Given the description of an element on the screen output the (x, y) to click on. 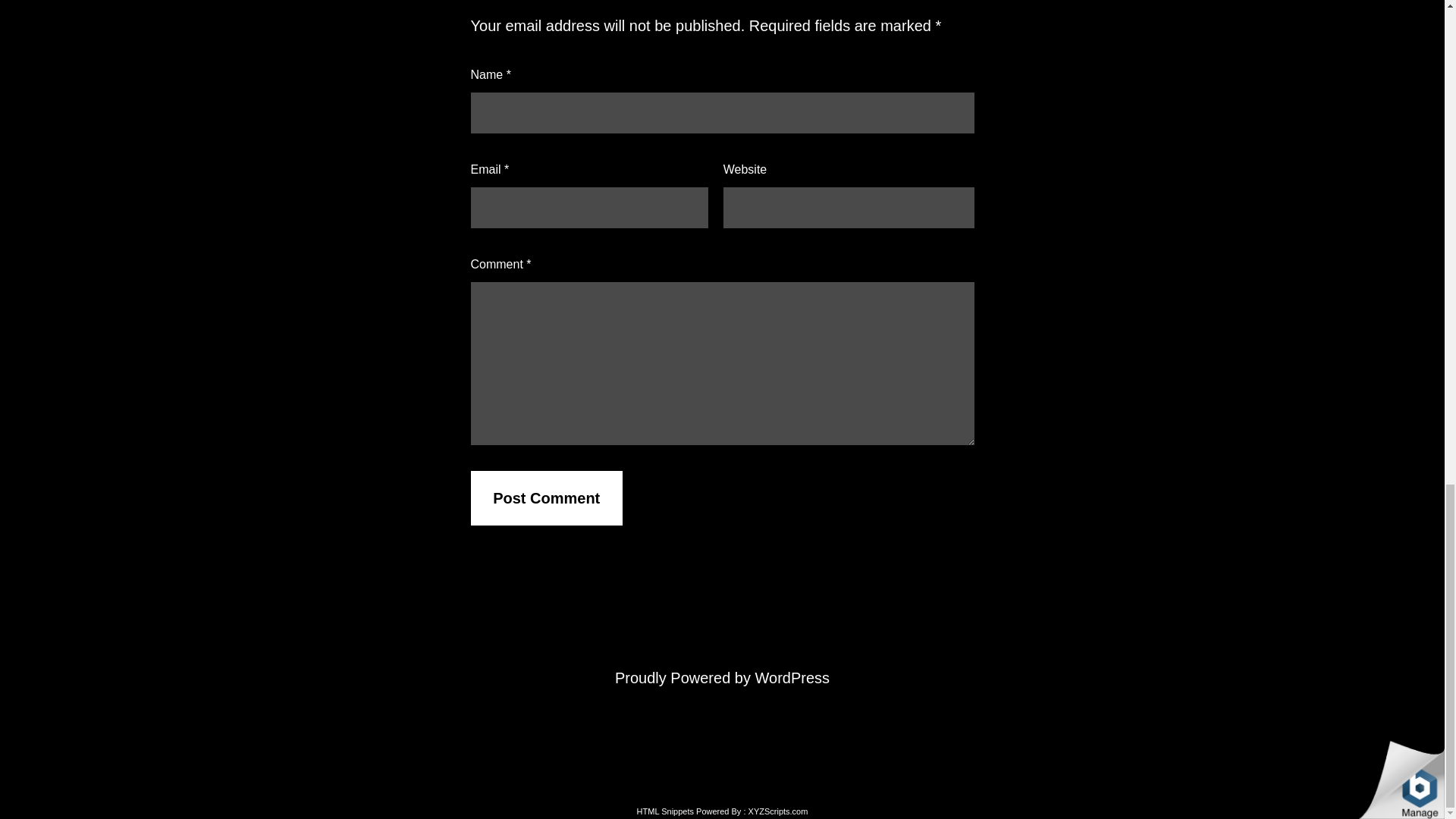
Insert HTML Snippet Wordpress Plugin (665, 810)
Post Comment (545, 497)
XYZScripts.com (778, 810)
Post Comment (545, 497)
WordPress (792, 677)
HTML Snippets (665, 810)
